Given the description of an element on the screen output the (x, y) to click on. 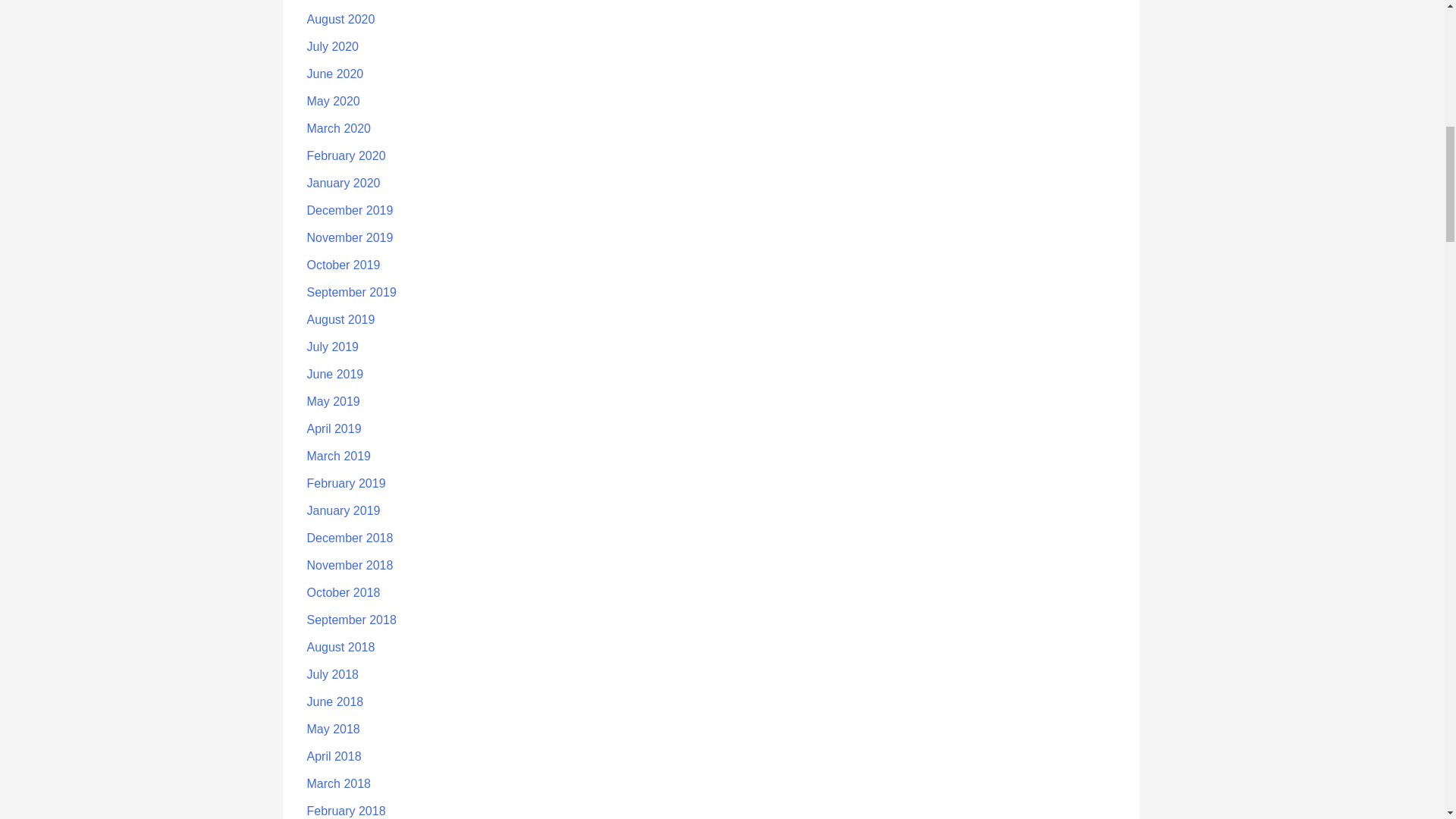
October 2019 (342, 264)
November 2019 (349, 237)
March 2020 (338, 128)
September 2019 (350, 291)
June 2020 (333, 73)
May 2020 (332, 101)
February 2020 (345, 155)
July 2020 (331, 46)
August 2020 (339, 19)
December 2019 (349, 210)
August 2019 (339, 318)
June 2019 (333, 373)
January 2020 (342, 182)
July 2019 (331, 346)
